Given the description of an element on the screen output the (x, y) to click on. 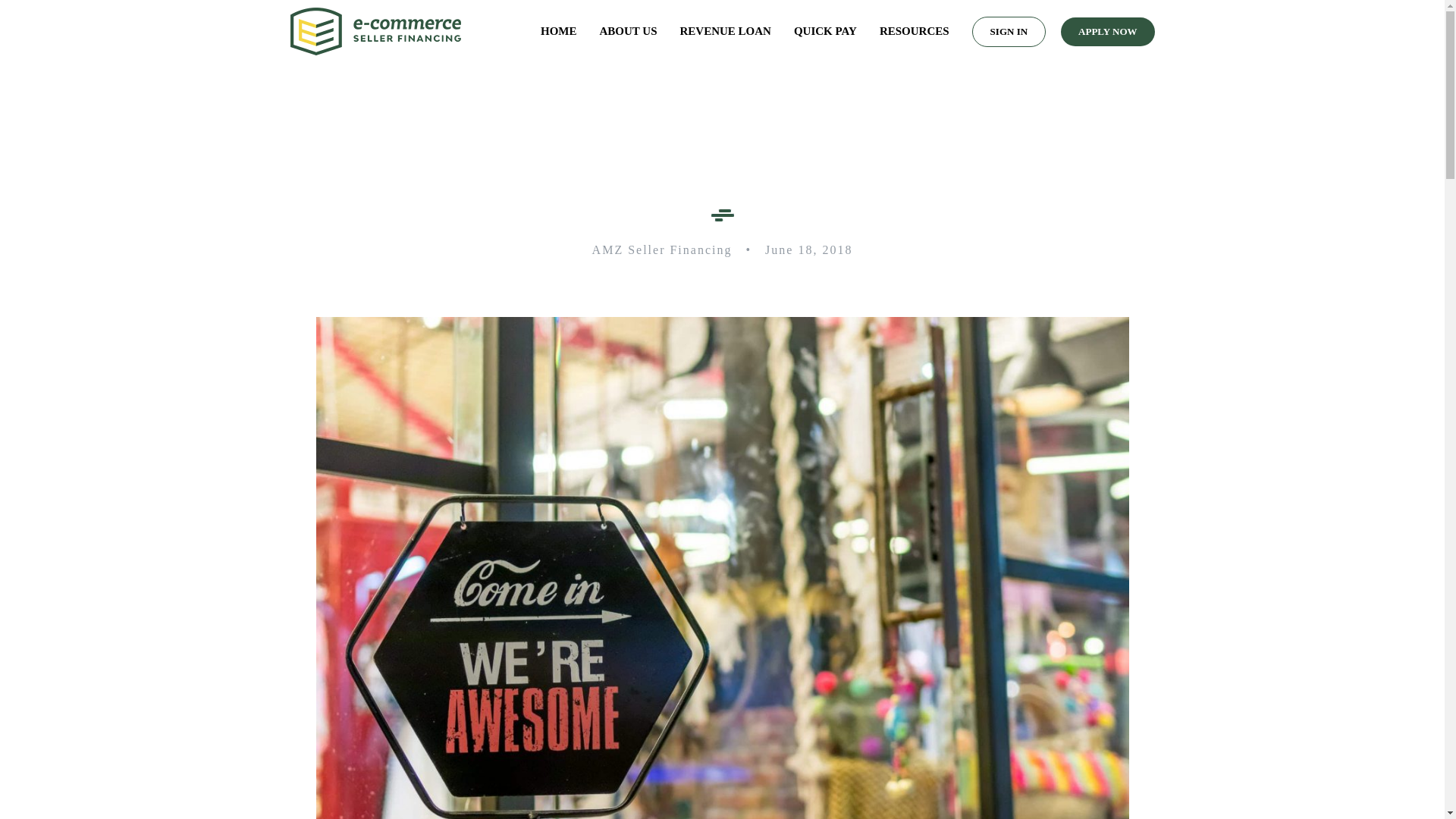
APPLY NOW (1107, 31)
REVENUE LOAN (725, 31)
QUICK PAY (825, 31)
Store-Sign (722, 322)
SIGN IN (1009, 31)
RESOURCES (914, 31)
divide (722, 215)
ABOUT US (628, 31)
